Given the description of an element on the screen output the (x, y) to click on. 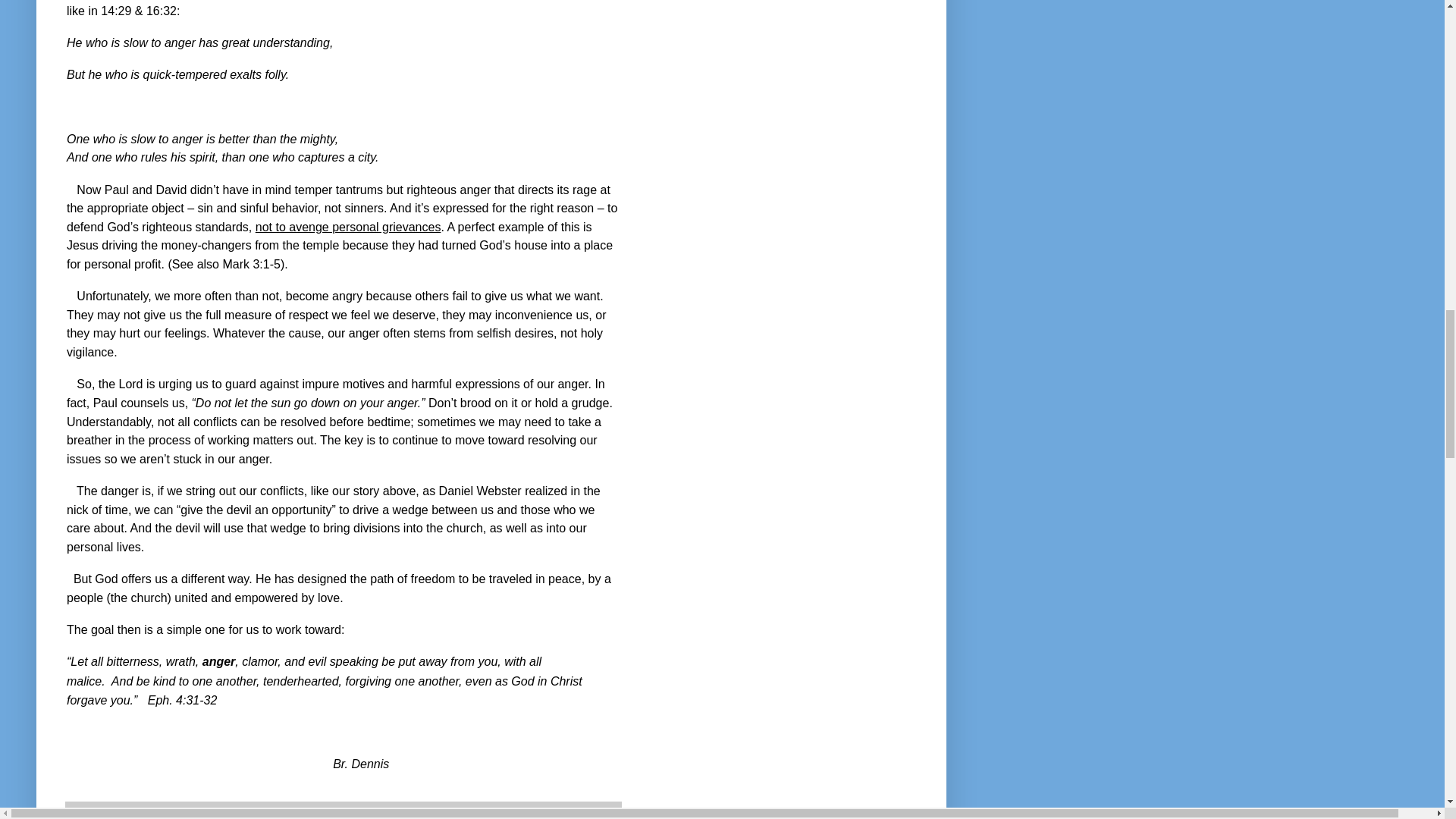
Email Post (78, 813)
